Given the description of an element on the screen output the (x, y) to click on. 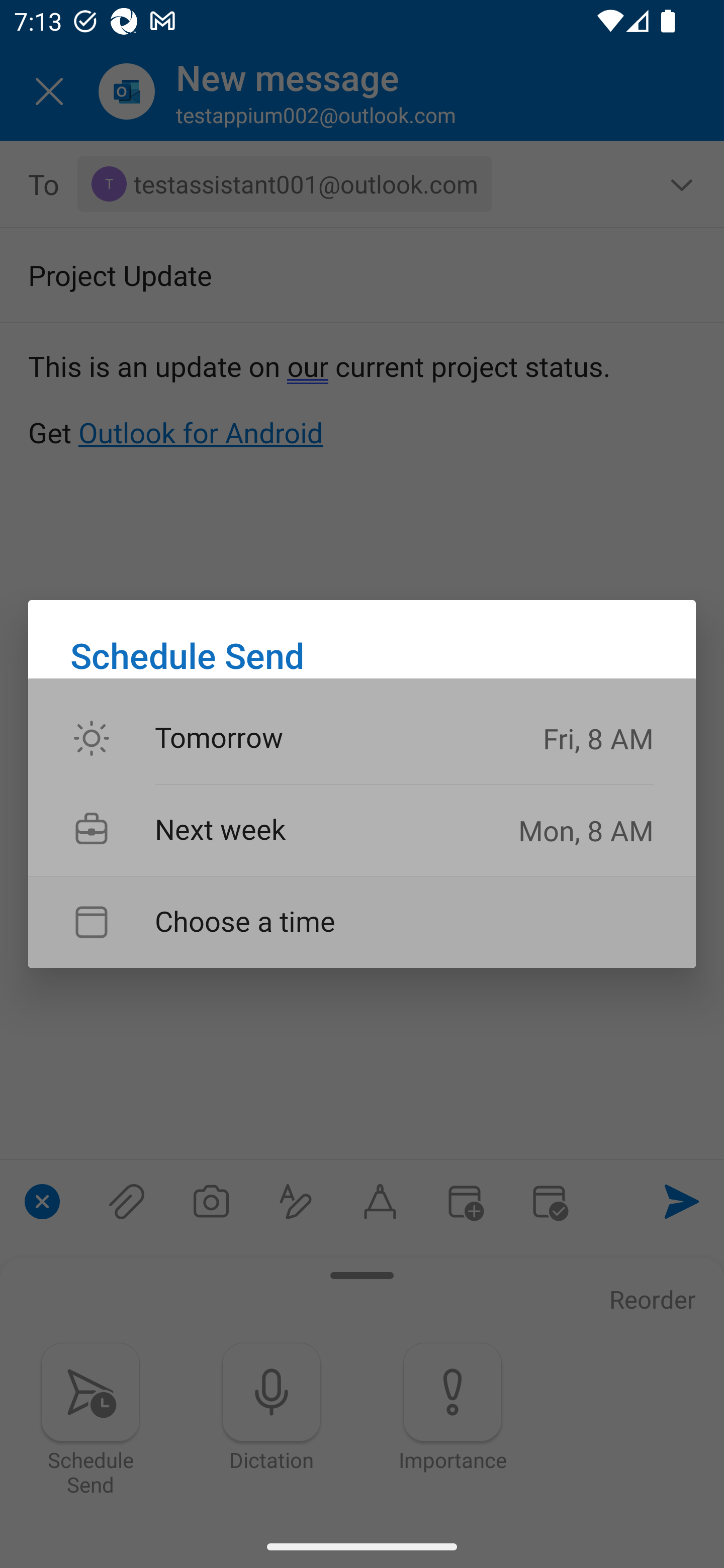
Option 1 Tomorrow Fri, 8 AM (361, 738)
Option 2 Next week Mon, 8 AM (361, 830)
Choose a time (361, 921)
